Given the description of an element on the screen output the (x, y) to click on. 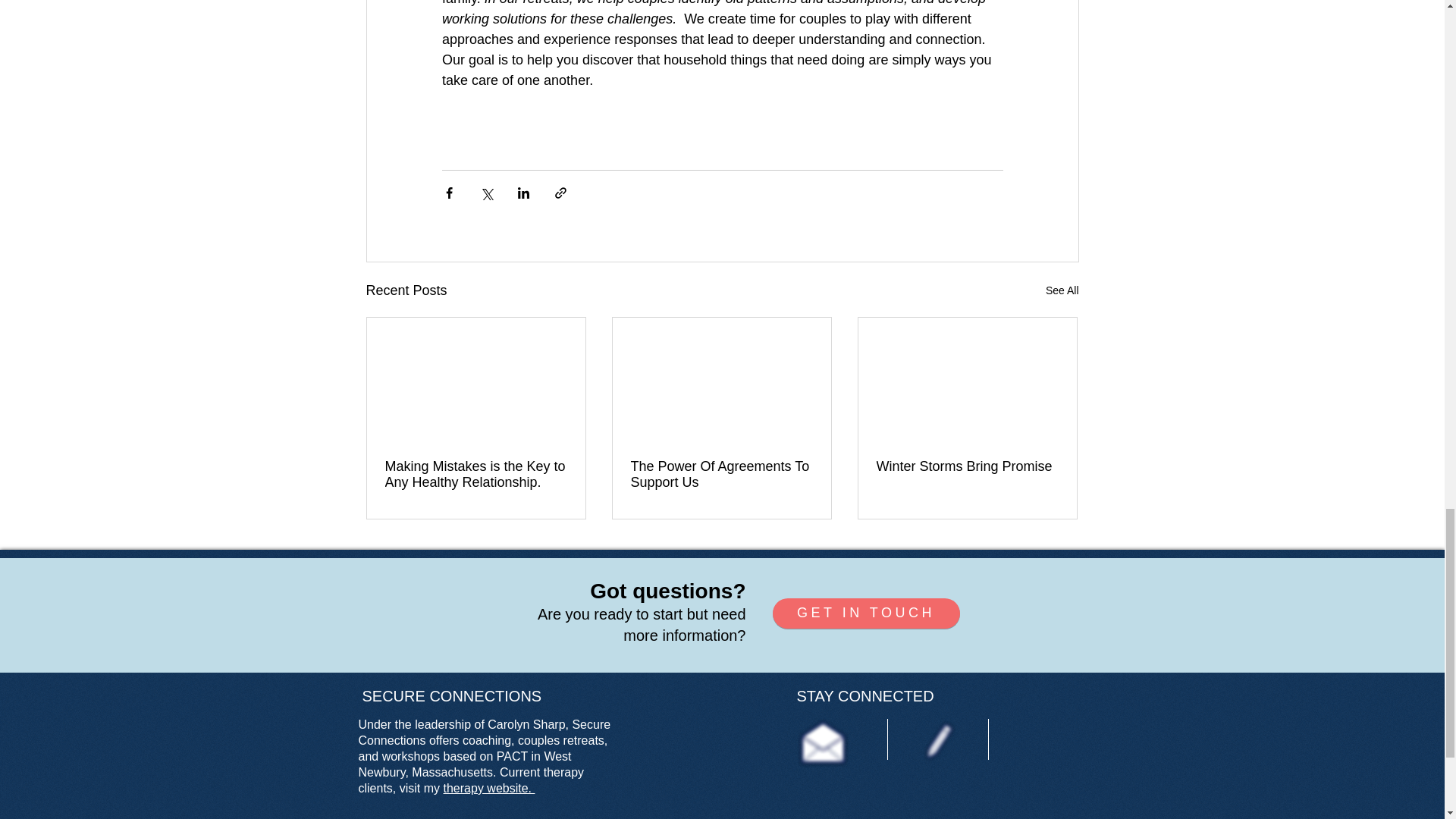
GET IN TOUCH (865, 613)
See All (1061, 291)
Making Mistakes is the Key to Any Healthy Relationship. (476, 474)
Winter Storms Bring Promise (967, 466)
The Power Of Agreements To Support Us (721, 474)
therapy website.  (489, 788)
